Given the description of an element on the screen output the (x, y) to click on. 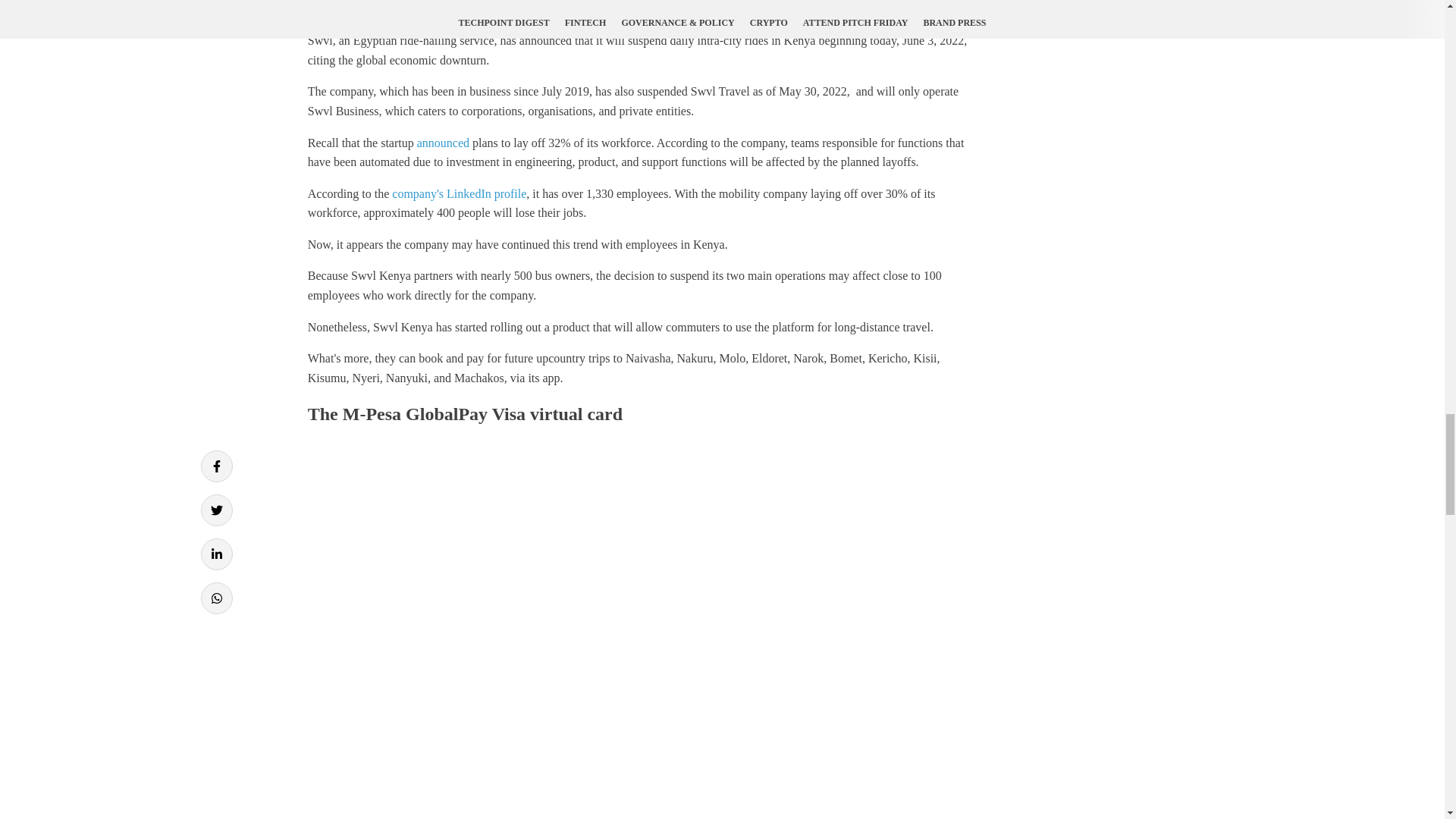
announced (442, 142)
Losing everything to find a gem 2 (639, 8)
company's LinkedIn profile (458, 193)
